Given the description of an element on the screen output the (x, y) to click on. 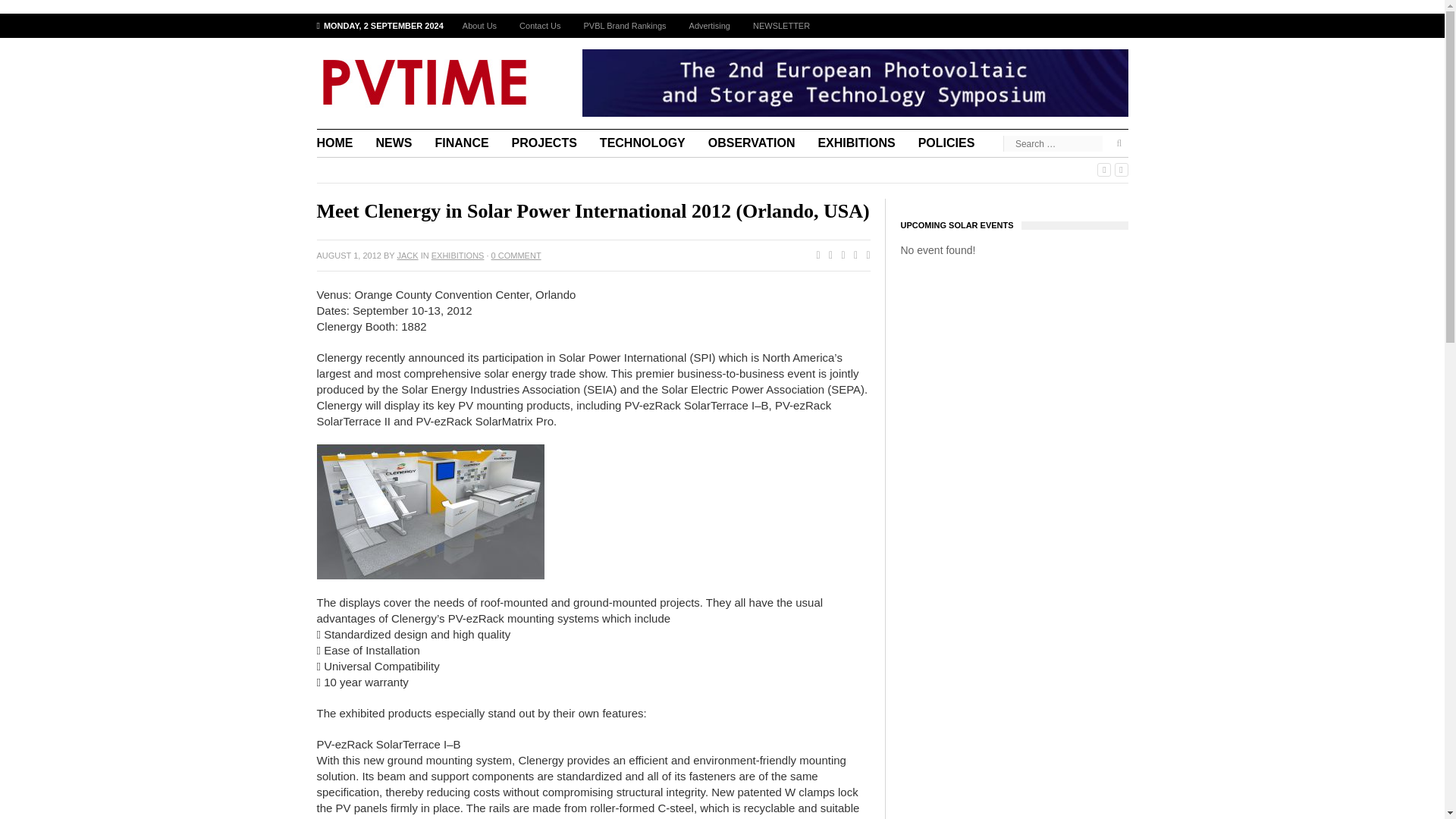
EXHIBITIONS (457, 255)
NEWS (393, 142)
0 COMMENT (516, 255)
Advertising (709, 25)
NEWSLETTER (781, 25)
HOME (341, 142)
Pinterest (852, 255)
JACK (408, 255)
About Us (479, 25)
LinkedIn (864, 255)
